Given the description of an element on the screen output the (x, y) to click on. 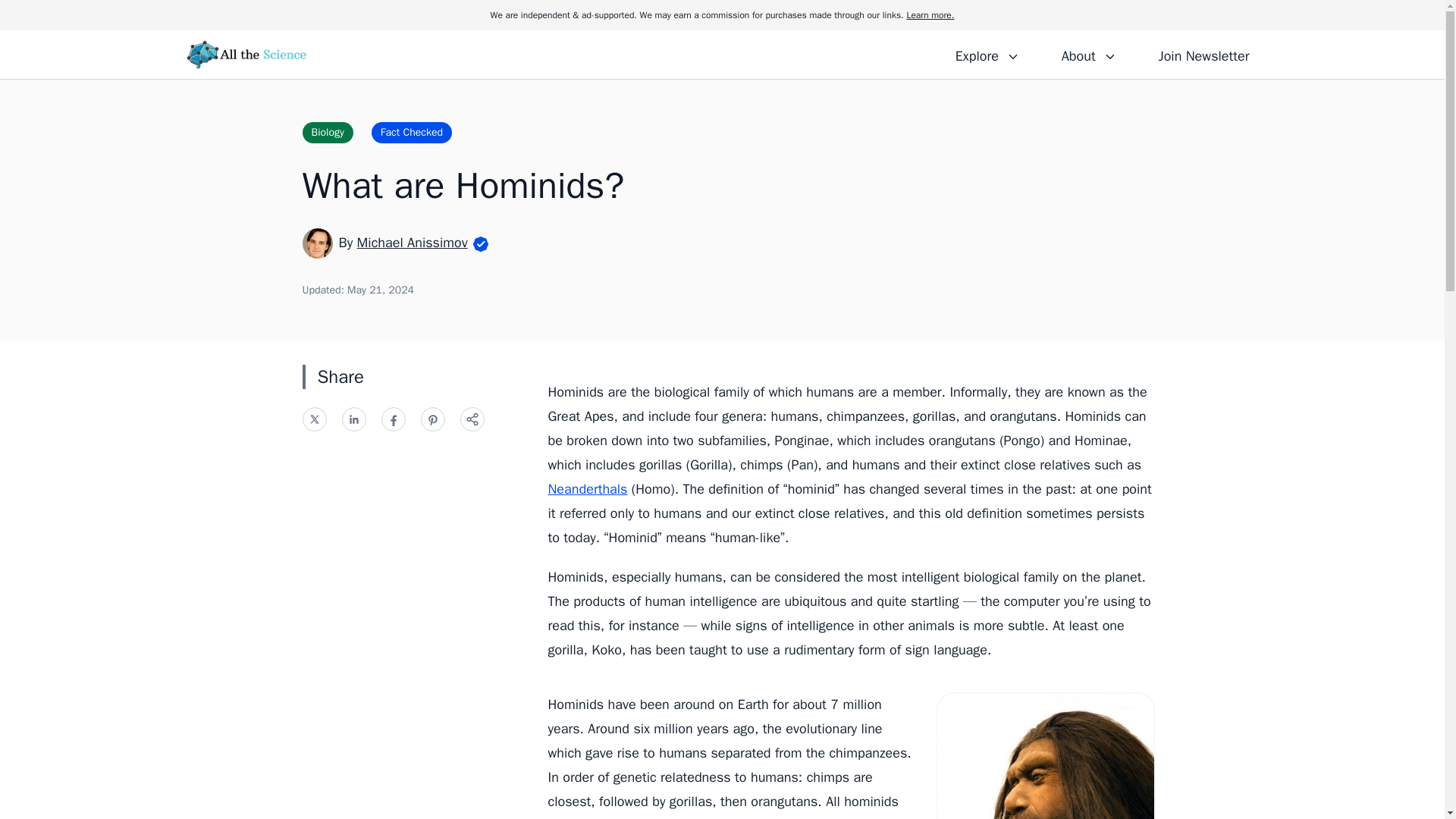
Explore (986, 54)
About (1088, 54)
Michael Anissimov (411, 242)
Biology (326, 132)
Join Newsletter (1202, 54)
Neanderthals (587, 488)
Learn more. (929, 15)
Fact Checked (411, 132)
